Given the description of an element on the screen output the (x, y) to click on. 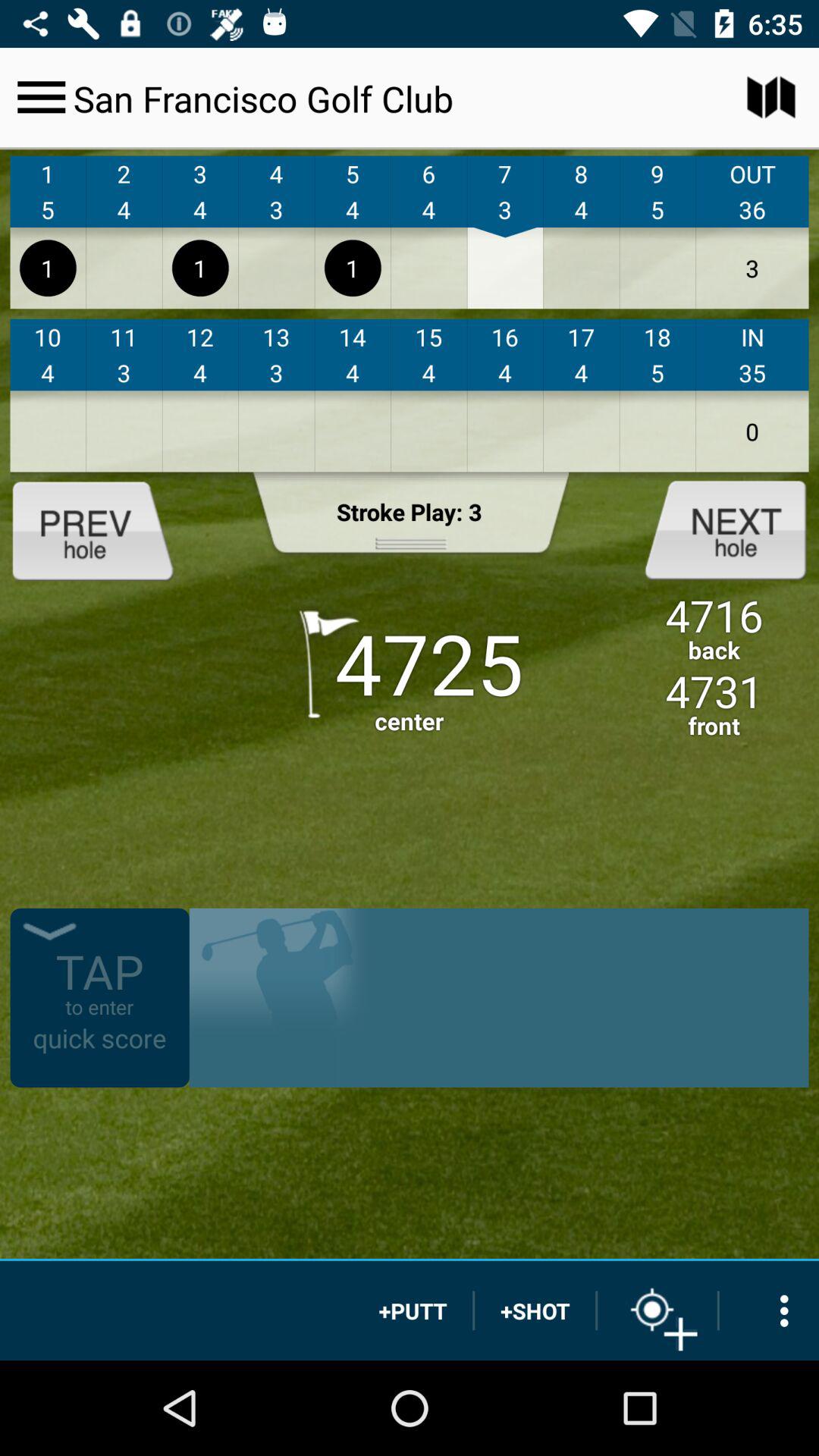
add location (657, 1310)
